Given the description of an element on the screen output the (x, y) to click on. 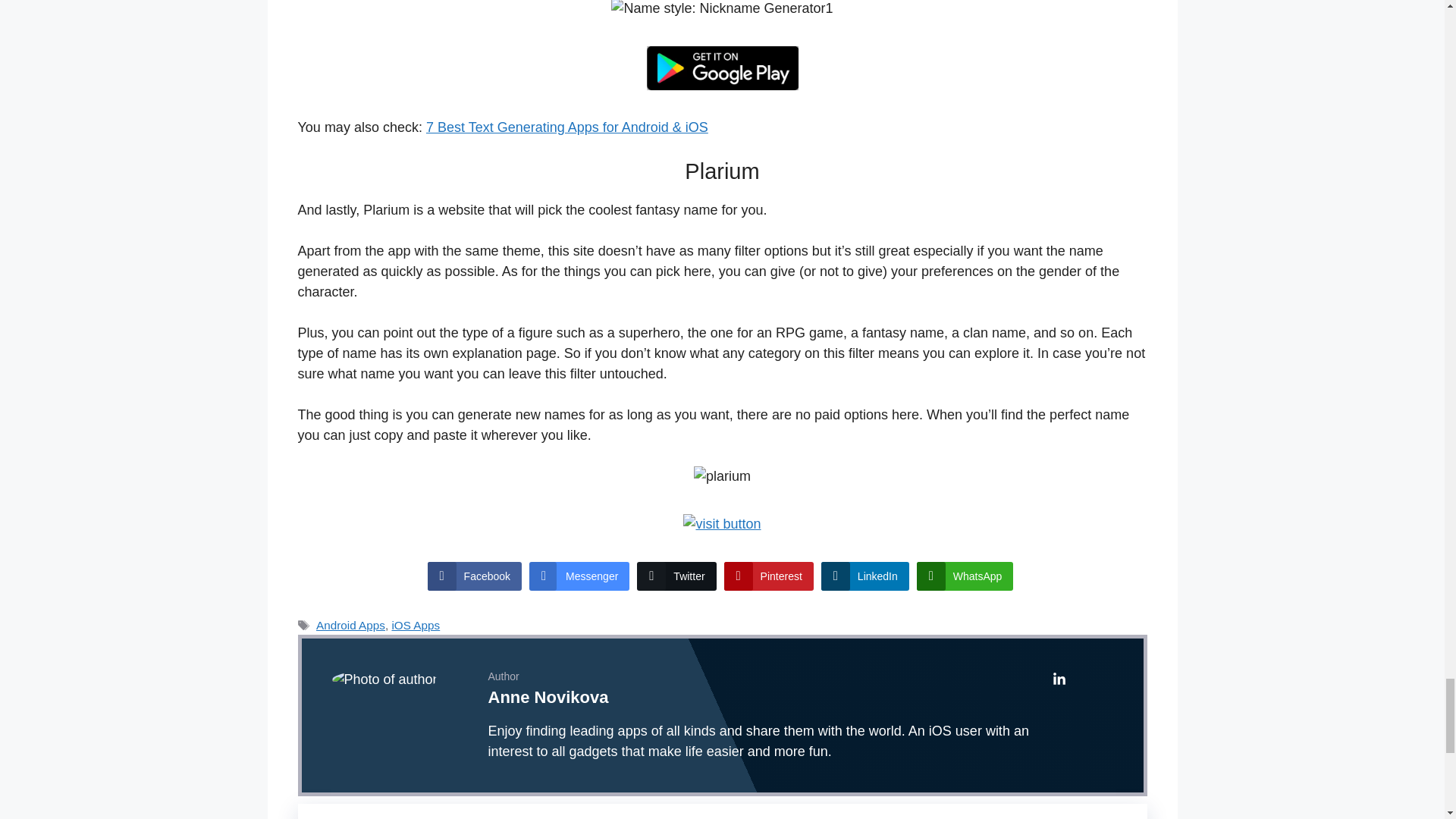
Pinterest (768, 575)
Facebook (474, 575)
LinkedIn (864, 575)
Messenger (578, 575)
WhatsApp (965, 575)
Twitter (676, 575)
Android Apps (350, 625)
